Given the description of an element on the screen output the (x, y) to click on. 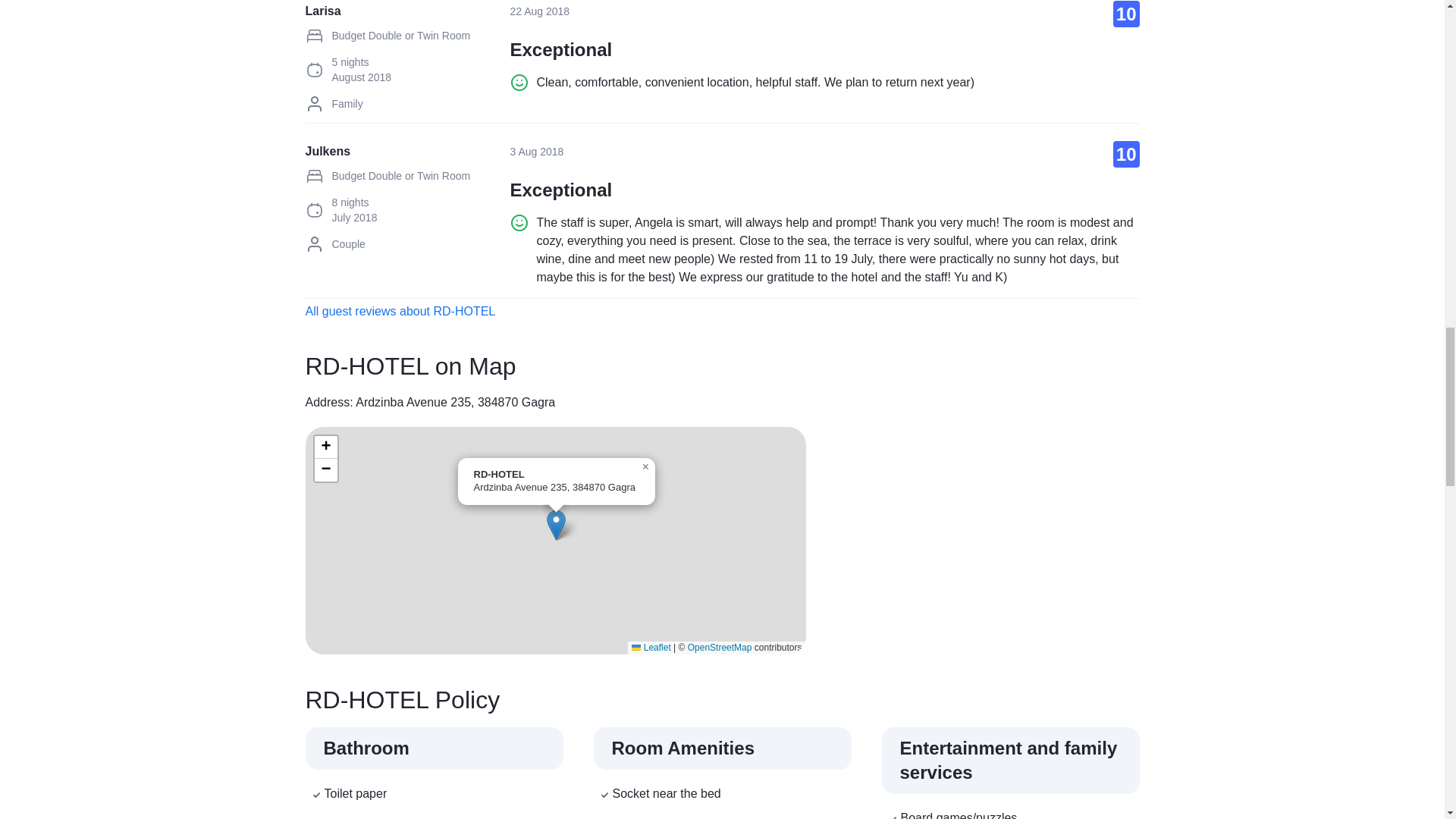
Leaflet (650, 647)
All guest reviews about RD-HOTEL (399, 310)
OpenStreetMap (719, 647)
